Given the description of an element on the screen output the (x, y) to click on. 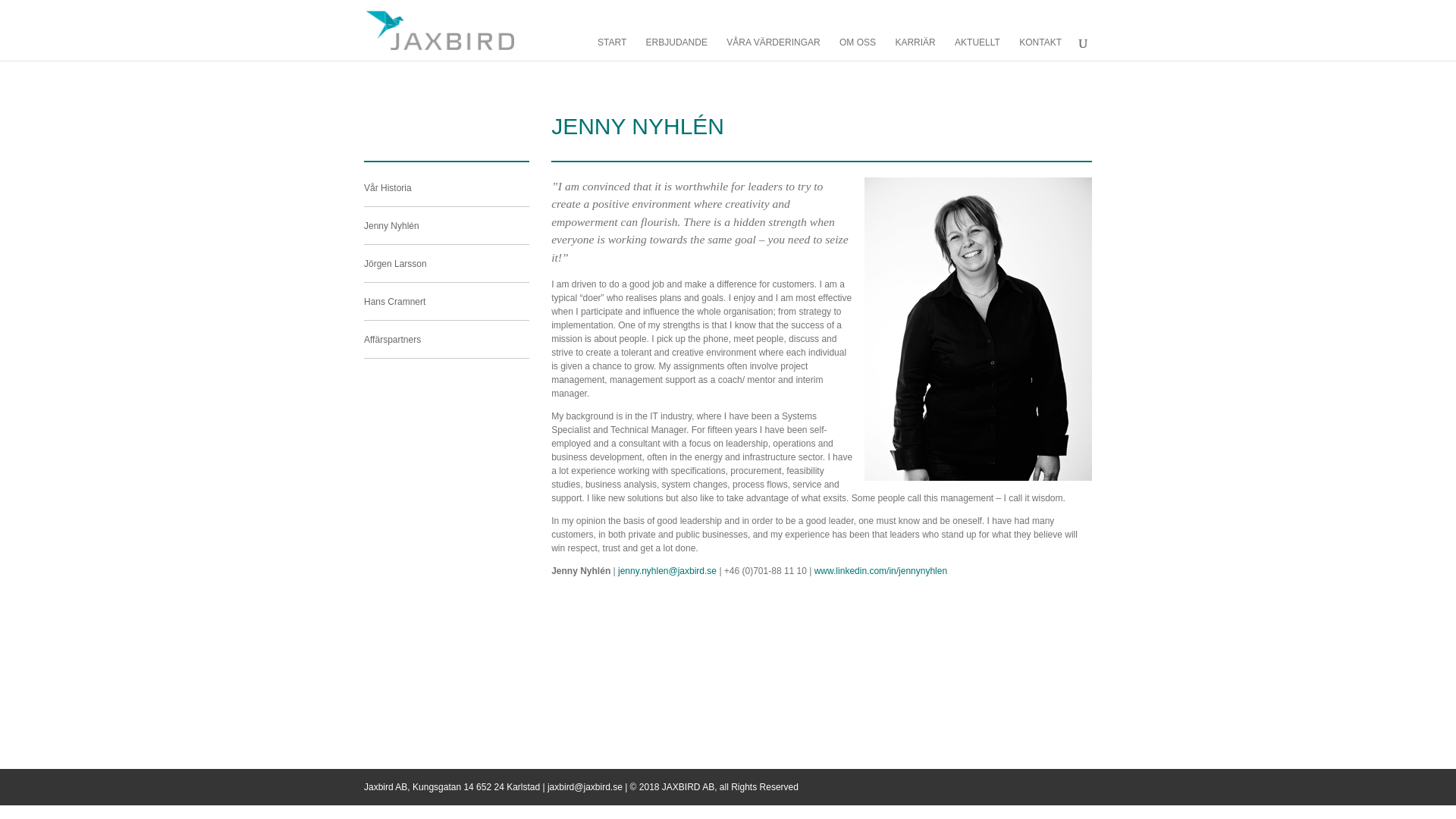
ERBJUDANDE (676, 54)
KONTAKT (1040, 54)
AKTUELLT (977, 54)
Hans Cramnert (446, 304)
OM OSS (858, 54)
